Given the description of an element on the screen output the (x, y) to click on. 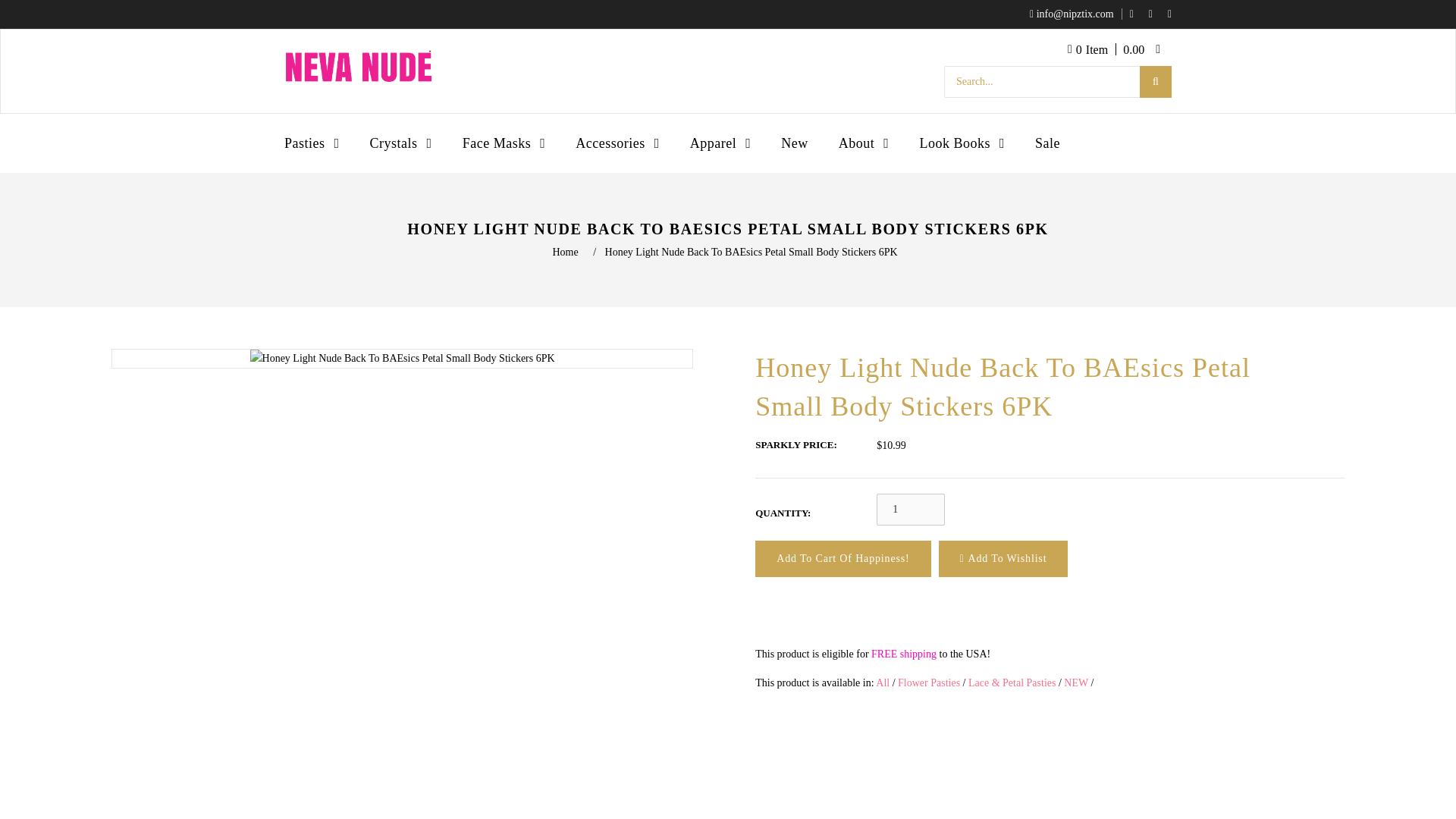
Facebook (1154, 13)
Pasties (319, 143)
1 (910, 509)
Twitter (1135, 13)
Facebook (1154, 13)
